Given the description of an element on the screen output the (x, y) to click on. 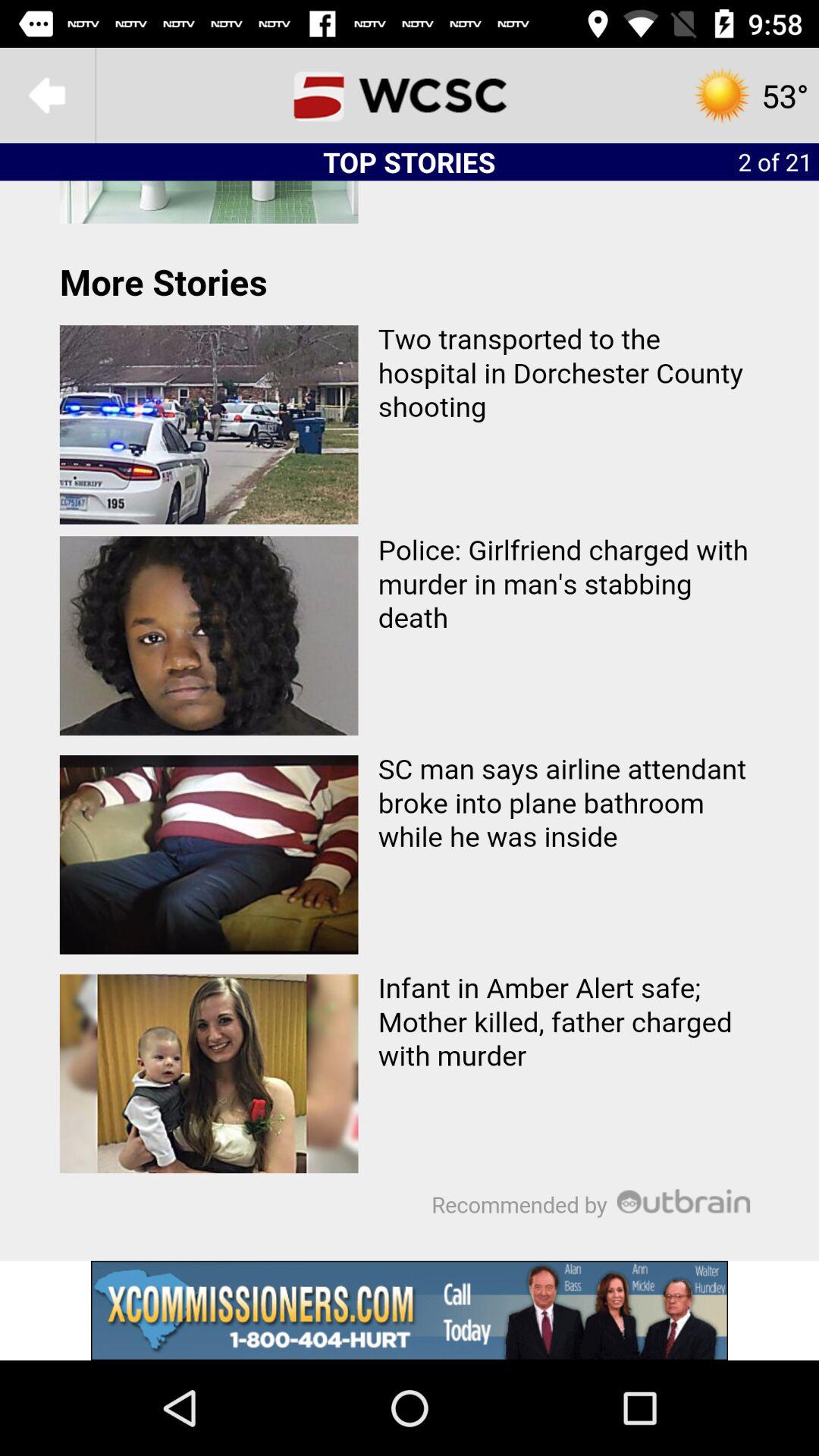
advertisement (409, 1310)
